Given the description of an element on the screen output the (x, y) to click on. 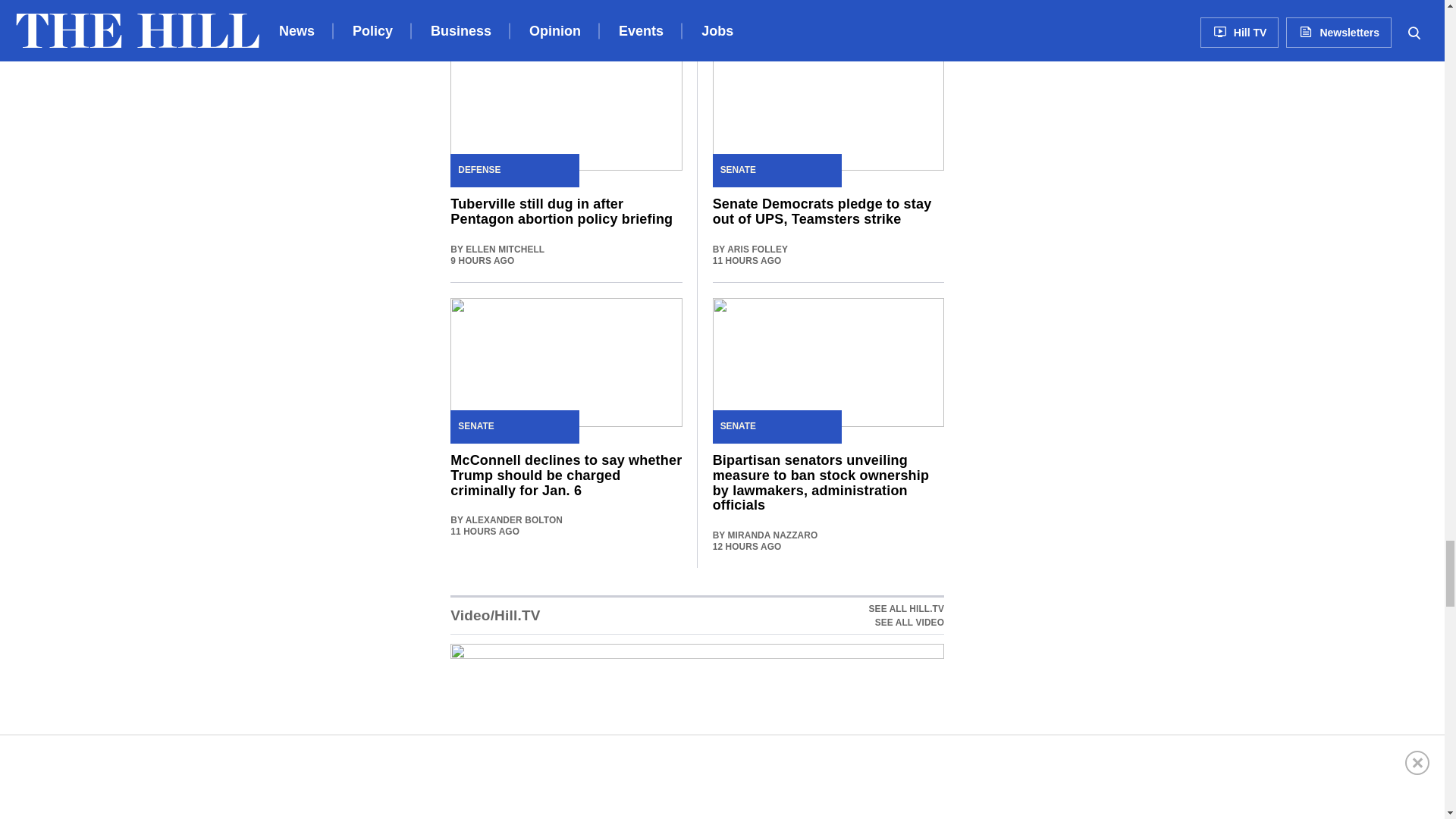
More Senate News (514, 12)
SEE ALL HILL.TV (906, 608)
SEE ALL VIDEO (906, 615)
SEE ALL (696, 13)
SEE ALL (906, 622)
